Given the description of an element on the screen output the (x, y) to click on. 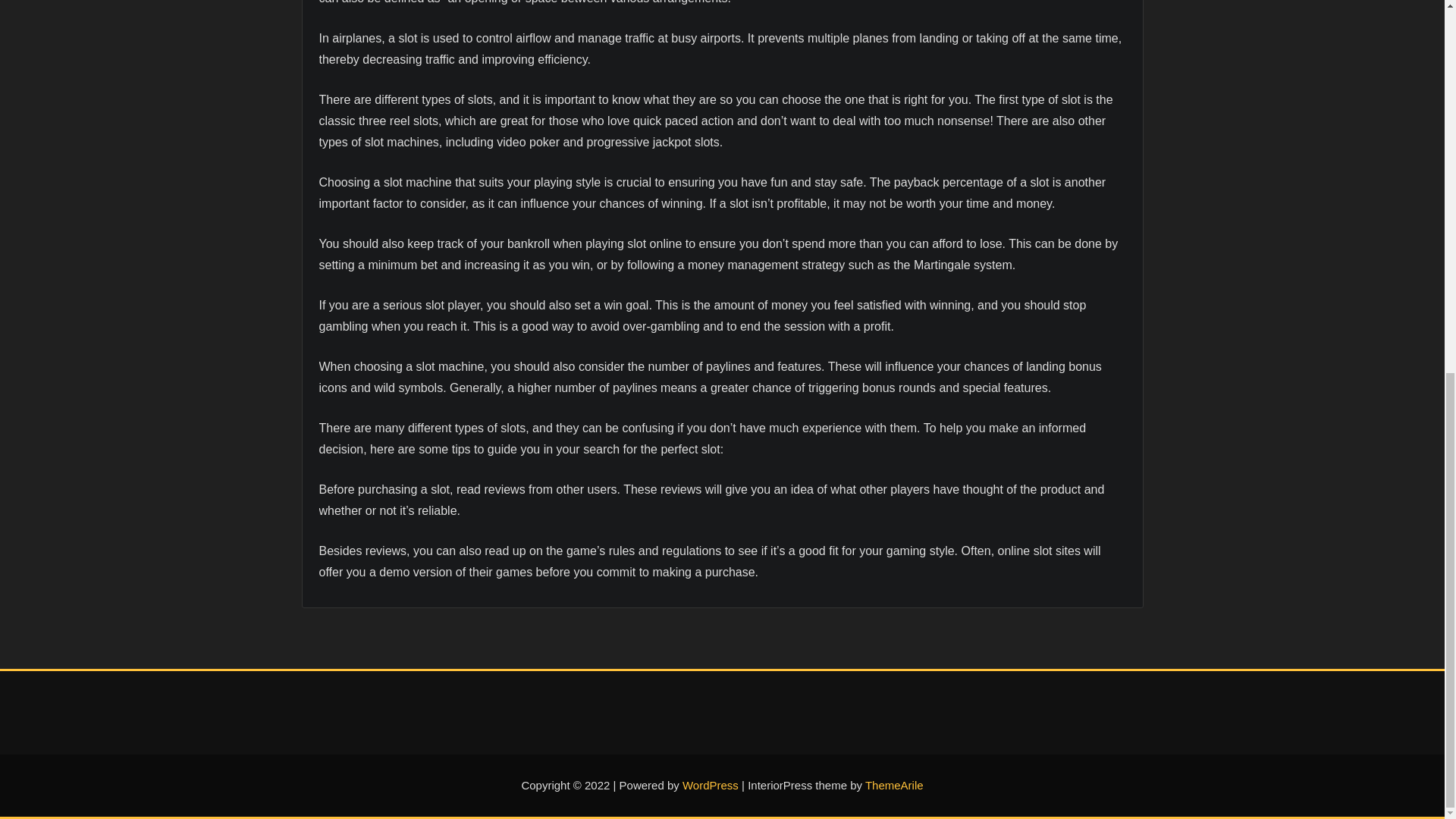
ThemeArile (893, 784)
WordPress (710, 784)
